Given the description of an element on the screen output the (x, y) to click on. 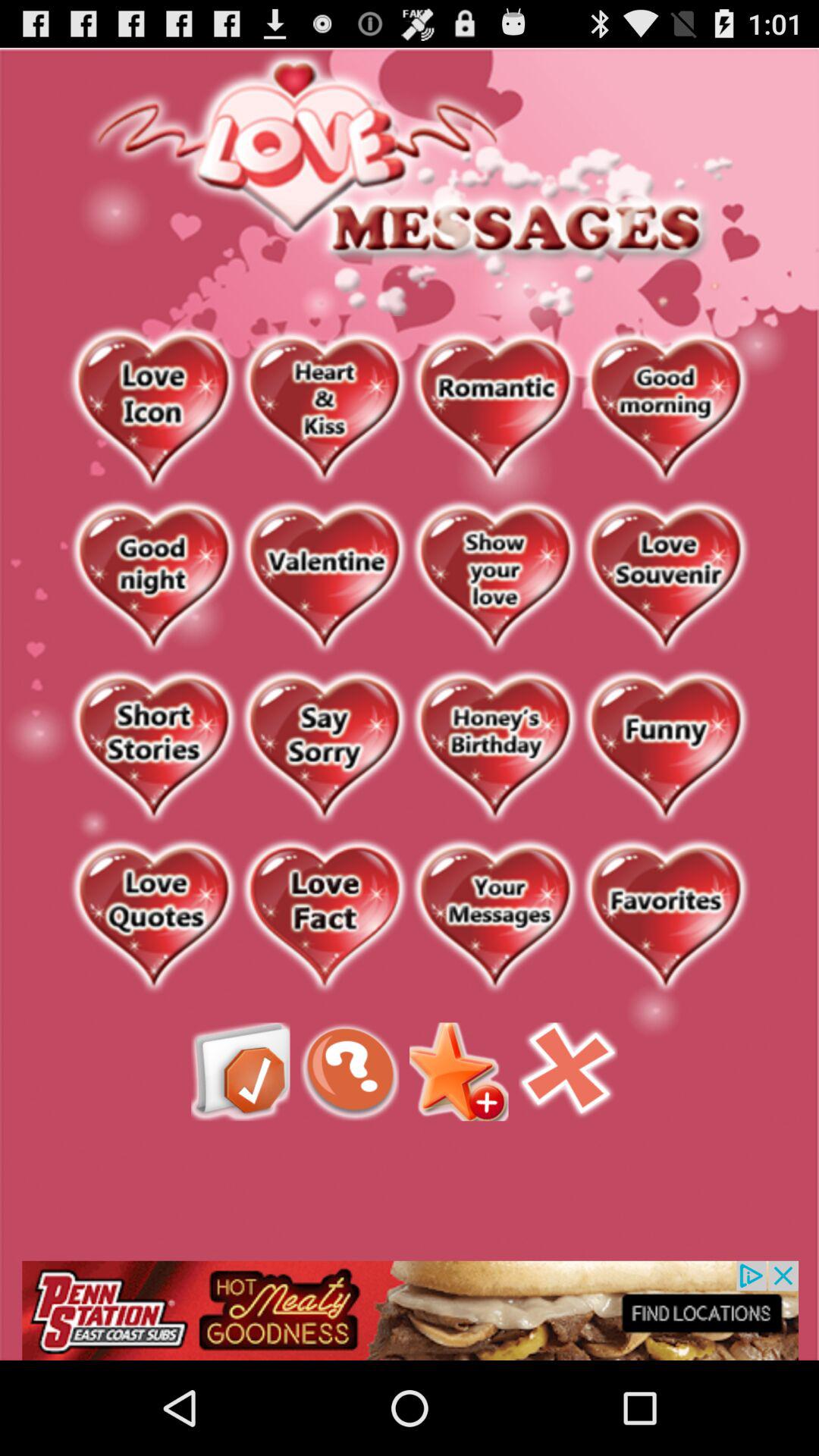
send a good night message (153, 578)
